Given the description of an element on the screen output the (x, y) to click on. 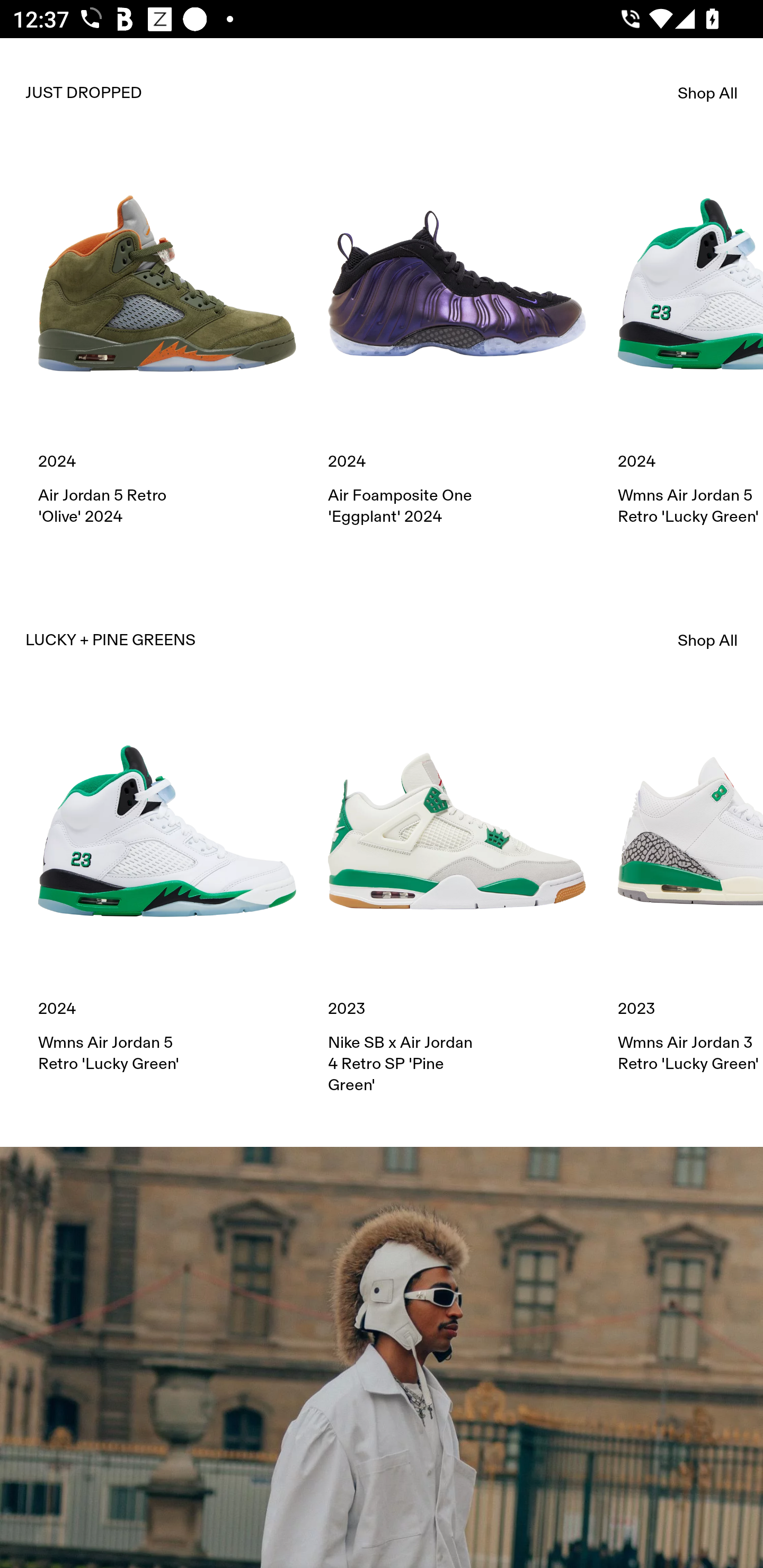
Shop All (707, 92)
2024 Air Jordan 5 Retro 'Olive' 2024 (167, 340)
2024 Air Foamposite One 'Eggplant' 2024 (456, 340)
2024 Wmns Air Jordan 5 Retro 'Lucky Green' (690, 340)
Shop All (707, 640)
2024 Wmns Air Jordan 5 Retro 'Lucky Green' (167, 888)
2023 Nike SB x Air Jordan 4 Retro SP 'Pine Green' (456, 899)
2023 Wmns Air Jordan 3 Retro 'Lucky Green' (690, 888)
